Given the description of an element on the screen output the (x, y) to click on. 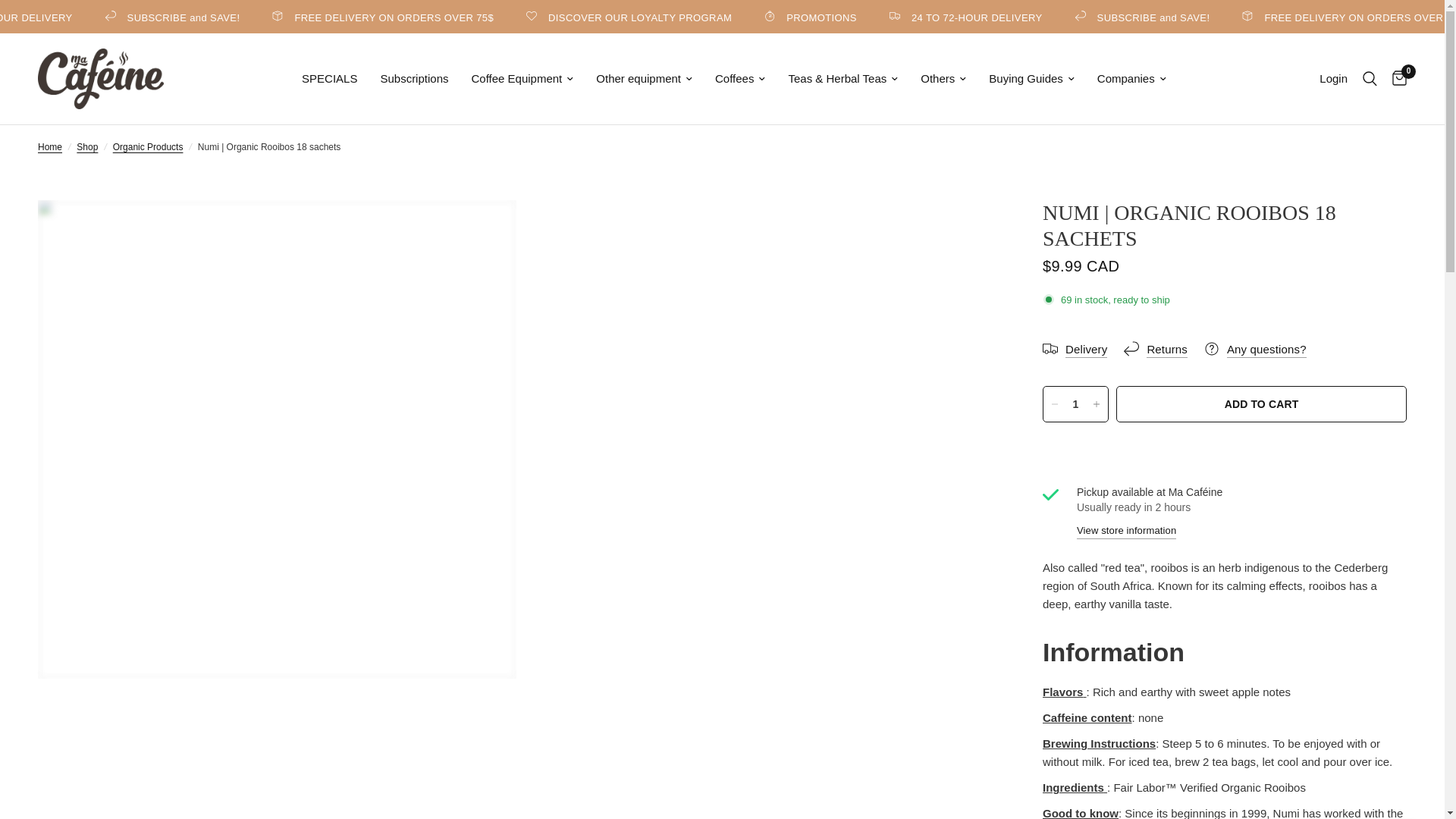
SUBSCRIBE and SAVE! (1270, 16)
DISCOVER OUR LOYALTY PROGRAM (759, 16)
24 TO 72-HOUR DELIVERY (128, 16)
SUBSCRIBE and SAVE! (303, 16)
24 TO 72-HOUR DELIVERY (1095, 16)
PROMOTIONS (940, 16)
